Given the description of an element on the screen output the (x, y) to click on. 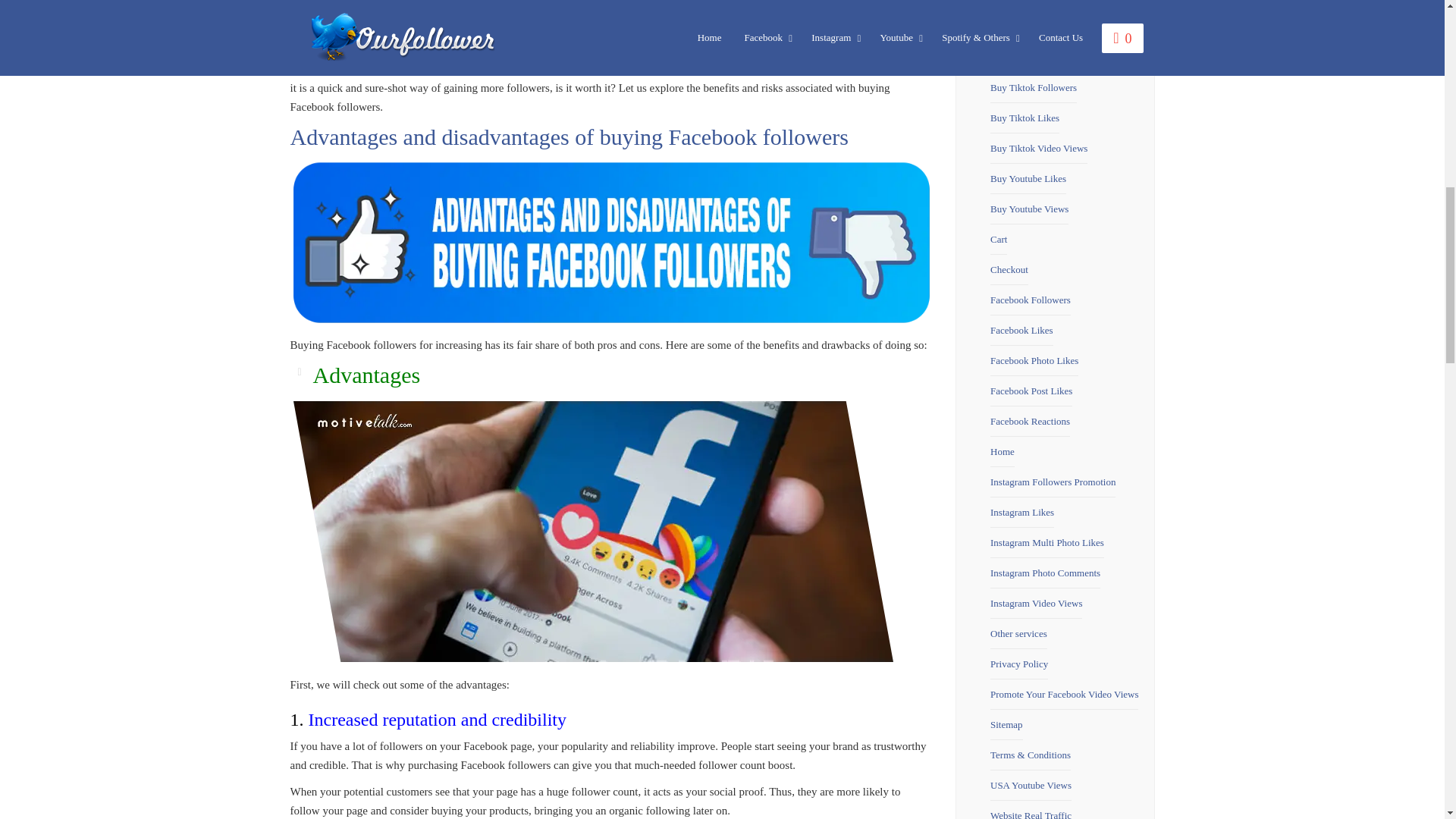
Buy Spotify Followers (1035, 27)
Blog (999, 6)
